Given the description of an element on the screen output the (x, y) to click on. 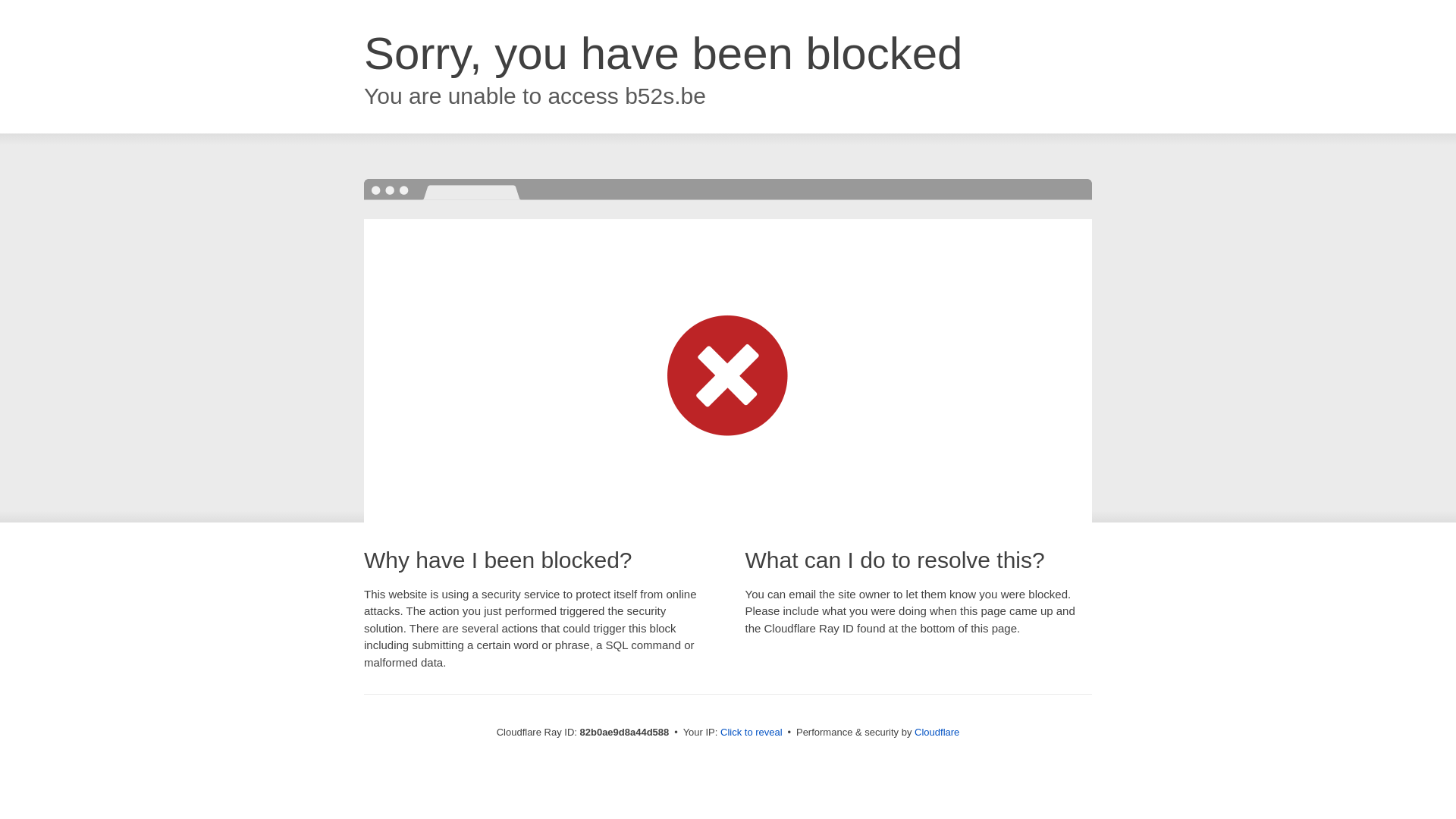
Cloudflare Element type: text (936, 731)
Click to reveal Element type: text (751, 732)
